Given the description of an element on the screen output the (x, y) to click on. 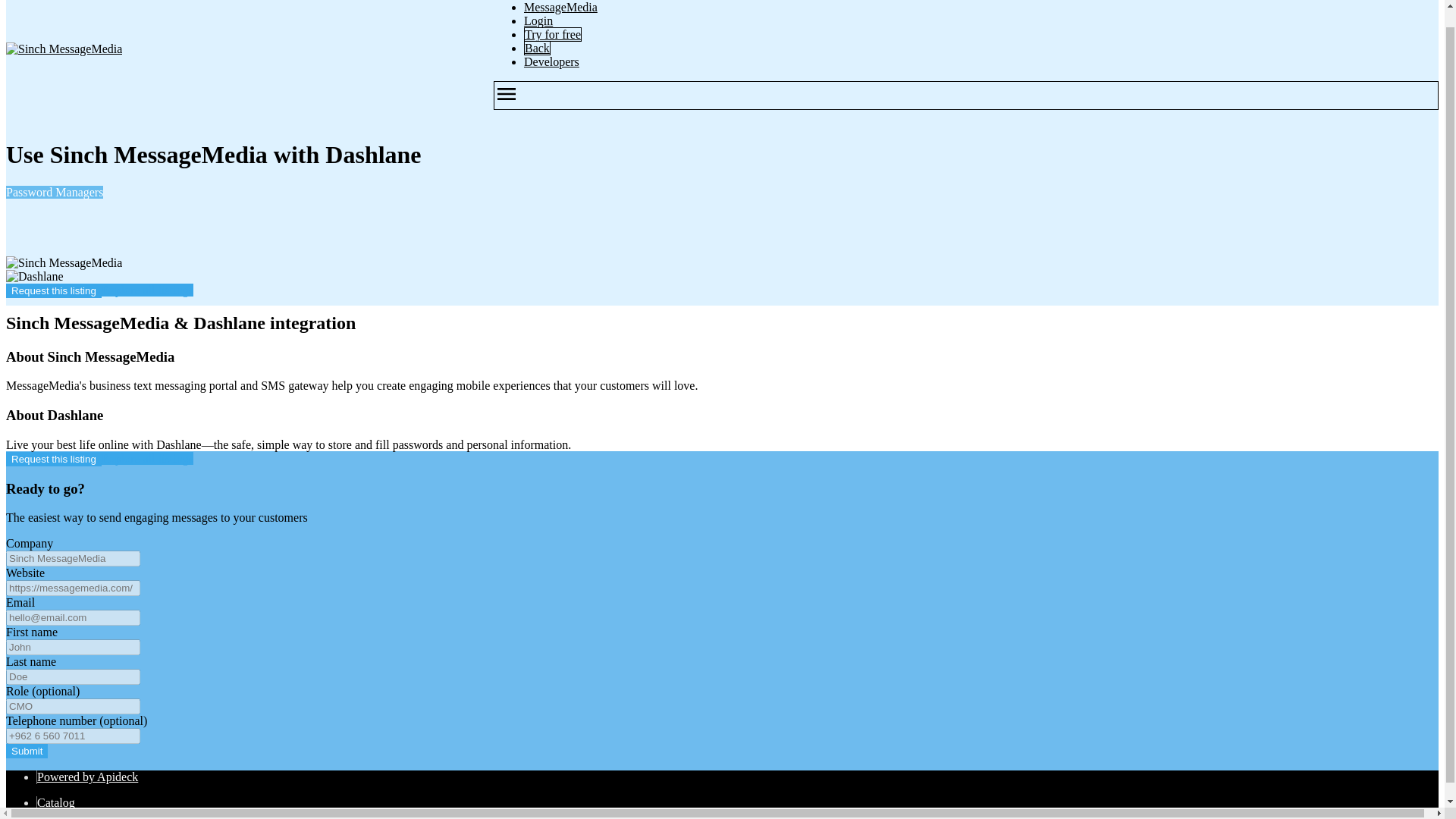
Try for free (552, 34)
Request this listing (53, 459)
Powered by Apideck (87, 776)
Sinch MessageMedia (63, 49)
Explore all listings (147, 458)
Sinch MessageMedia (63, 263)
MessageMedia (560, 6)
Explore all listings (147, 289)
Dashlane (34, 276)
Login (538, 20)
